Given the description of an element on the screen output the (x, y) to click on. 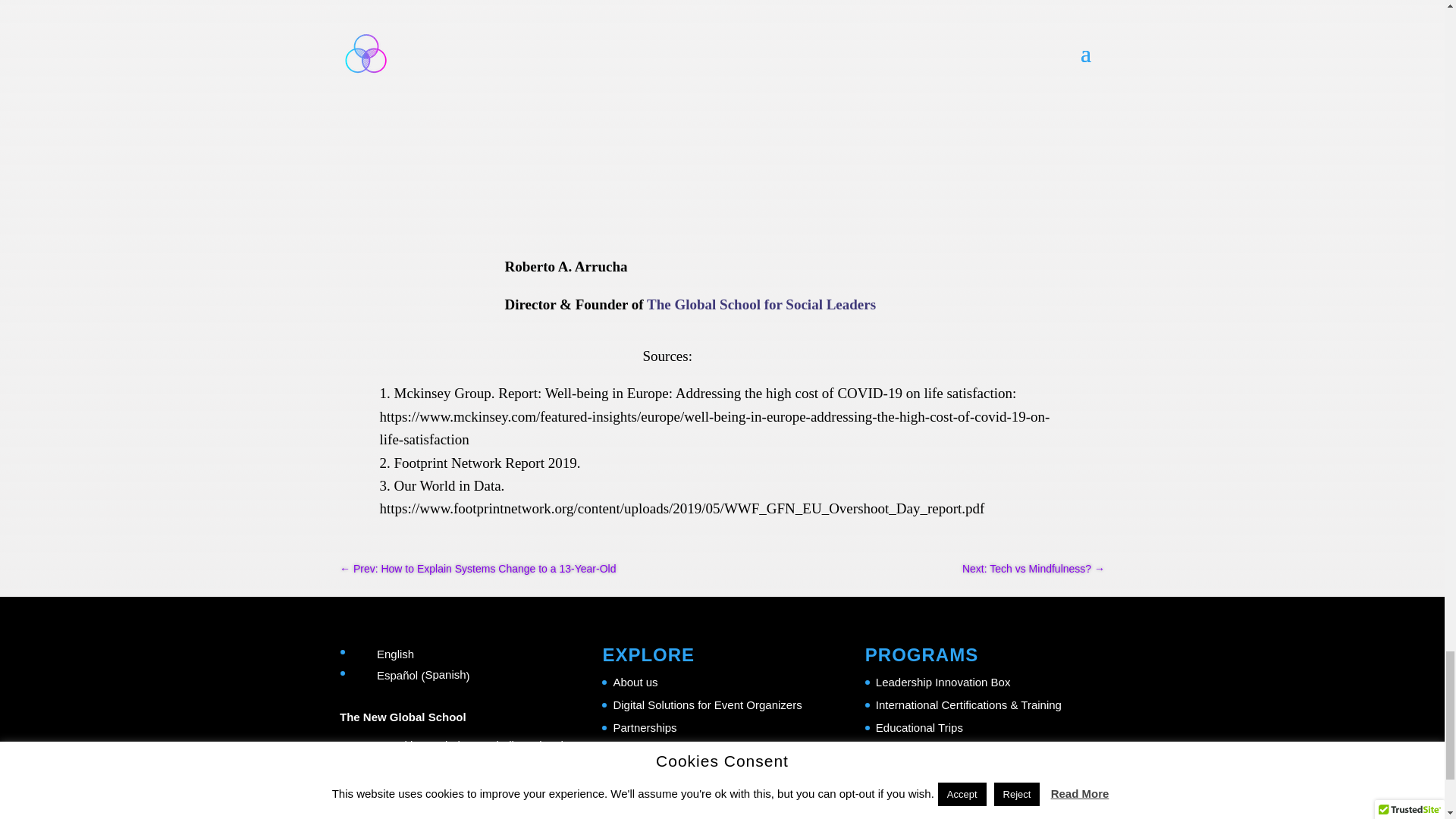
Educational Trips (919, 727)
Free Leadership Courses (940, 749)
About us (635, 681)
Partnerships (644, 727)
Leadership Innovation Box (943, 681)
Social Impact (646, 749)
Our Blog: People, Purpose, Planet (699, 772)
The Global School for Social Leaders (761, 304)
Digital Solutions for Event Organizers (707, 704)
English (413, 654)
Happiness of Europe - Roberto A. Arrucha (435, 297)
